Given the description of an element on the screen output the (x, y) to click on. 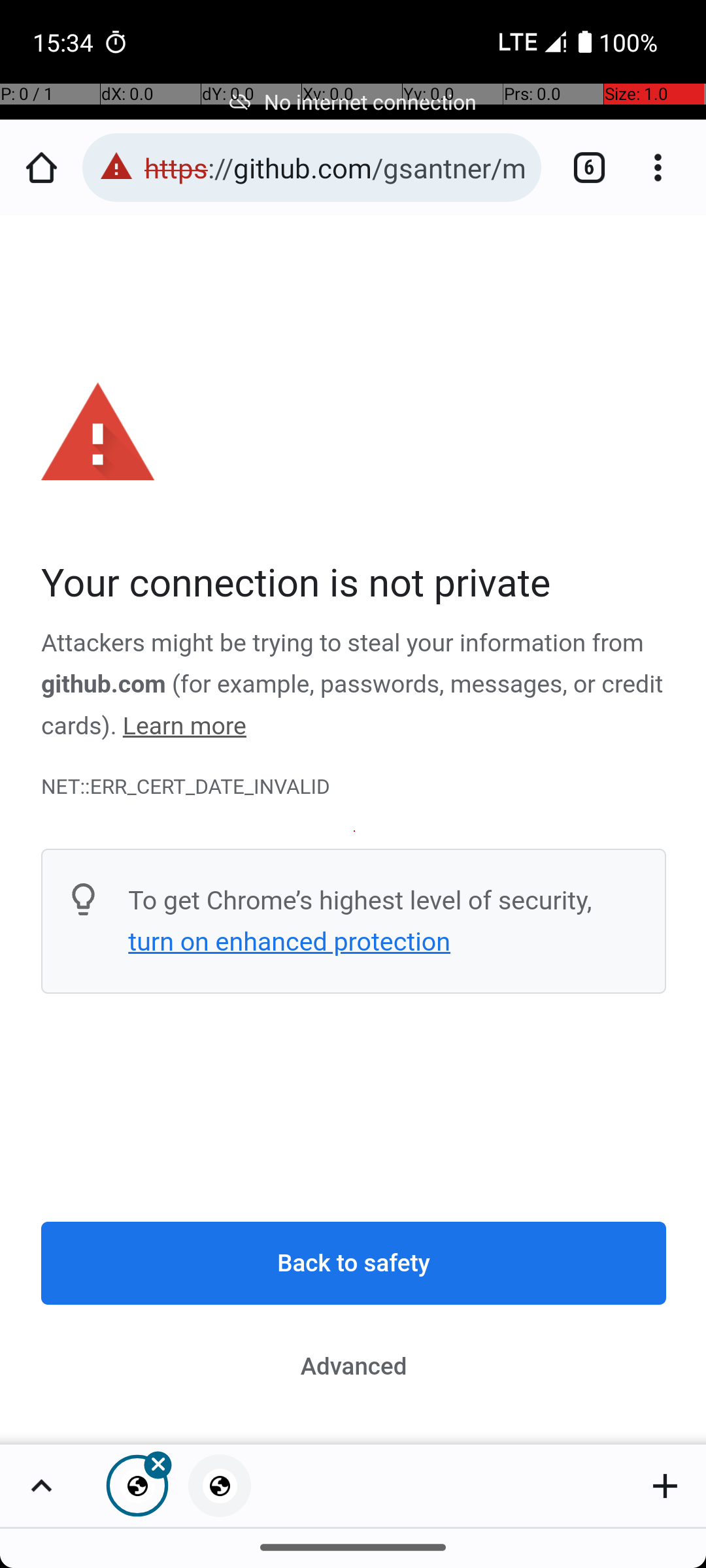
Show group's tabs in fullscreen grid Element type: android.widget.ImageView (41, 1485)
Add new tab to group Element type: android.widget.ImageView (664, 1485)
https://github.com/gsantner/markor#readme Element type: android.widget.EditText (335, 167)
Close Privacy error tab Element type: android.widget.ImageButton (137, 1485)
, tab Element type: android.widget.ImageButton (219, 1485)
